Given the description of an element on the screen output the (x, y) to click on. 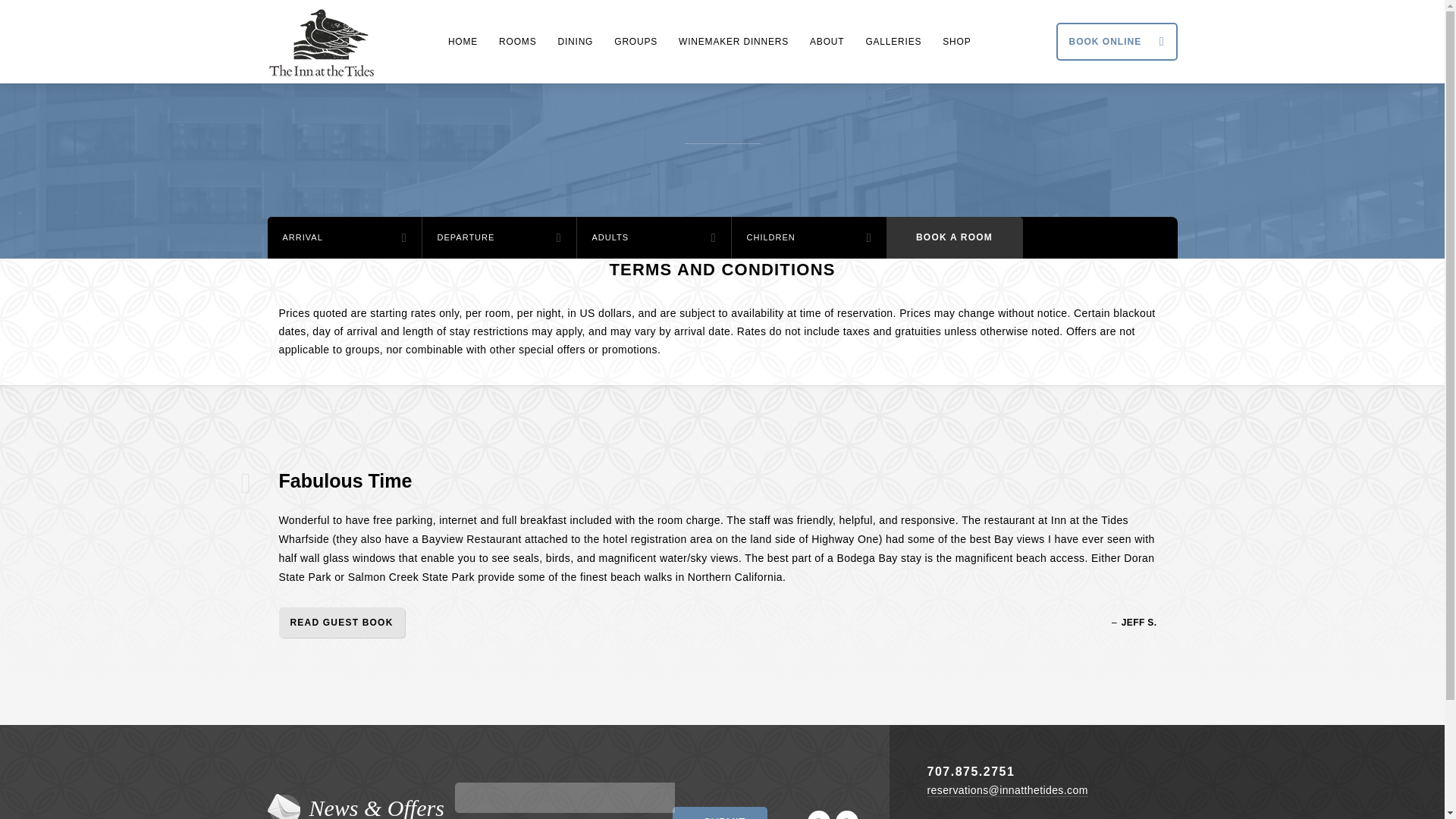
GALLERIES (892, 41)
Twitter (847, 814)
Submit (719, 812)
ROOMS (517, 41)
BOOK ONLINE (1115, 41)
BOOK A ROOM (953, 237)
Facebook (818, 814)
SHOP (956, 41)
WINEMAKER DINNERS (733, 41)
HOME (462, 41)
DINING (575, 41)
Submit (719, 812)
GROUPS (636, 41)
ABOUT (826, 41)
READ GUEST BOOK (341, 622)
